Given the description of an element on the screen output the (x, y) to click on. 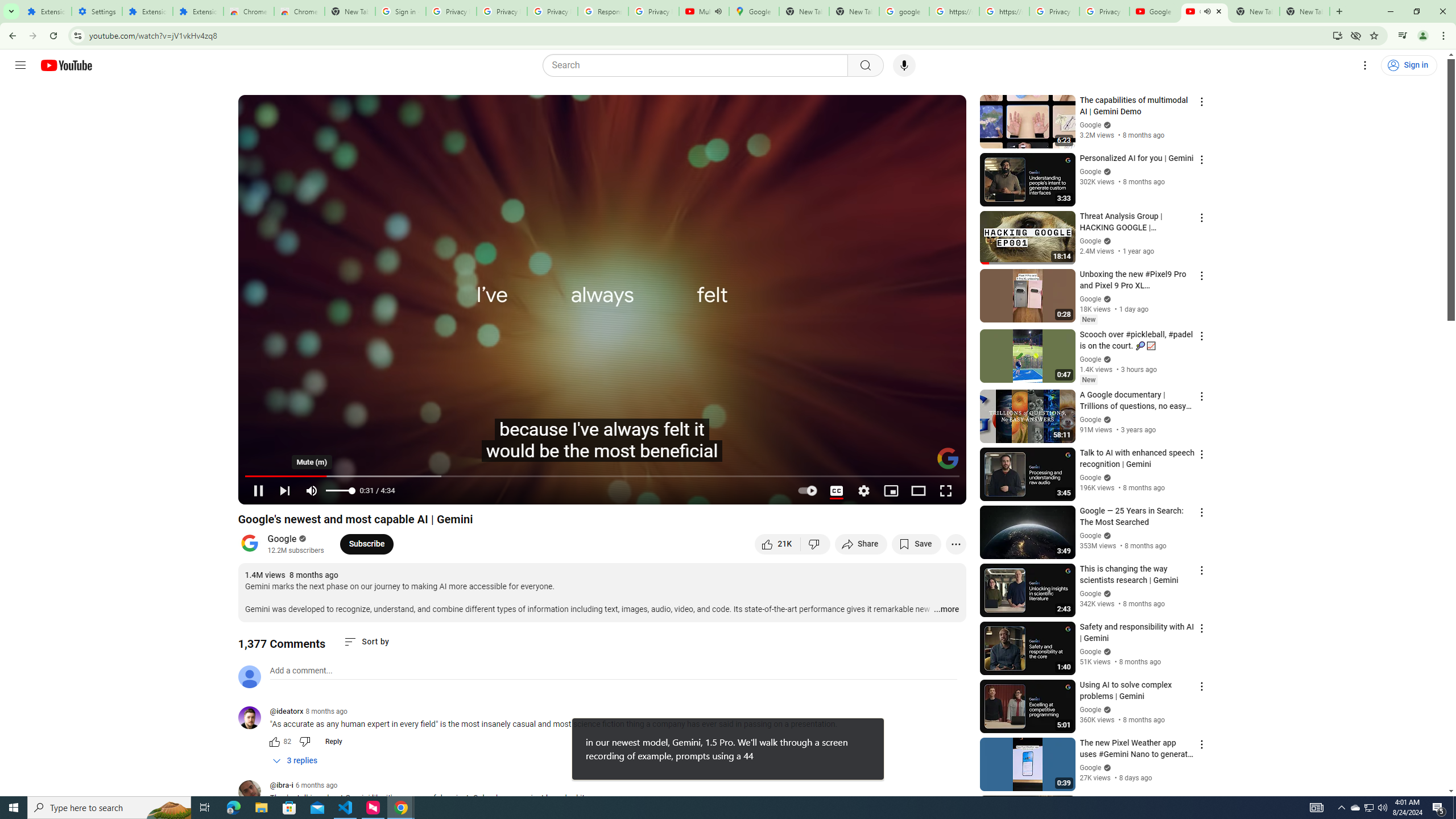
Extensions (197, 11)
https://scholar.google.com/ (1004, 11)
@ibra-i (281, 785)
Mute tab (1206, 10)
3 replies (295, 761)
Save to playlist (915, 543)
